Given the description of an element on the screen output the (x, y) to click on. 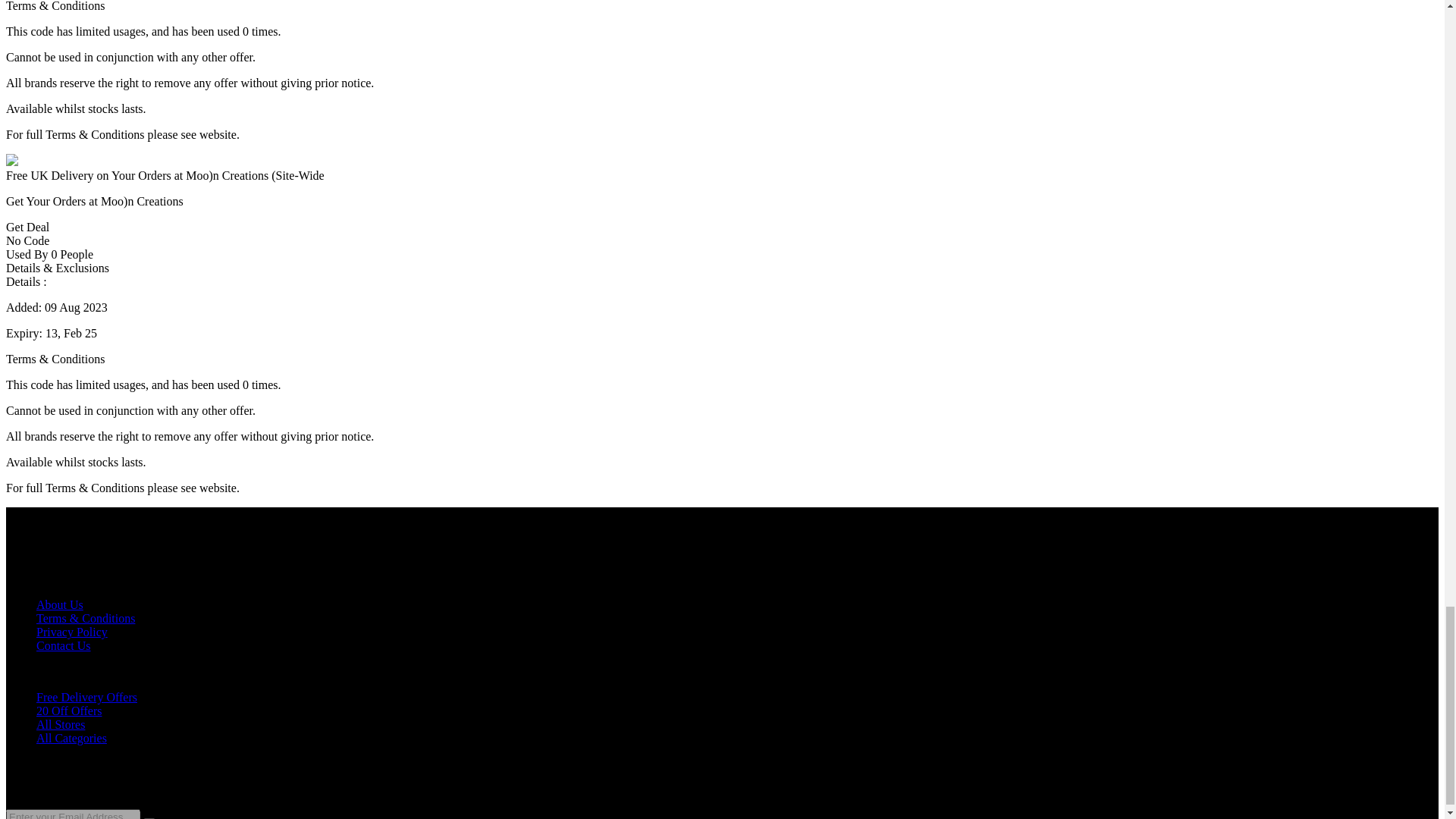
Privacy Policy (71, 631)
About Us (59, 604)
